Given the description of an element on the screen output the (x, y) to click on. 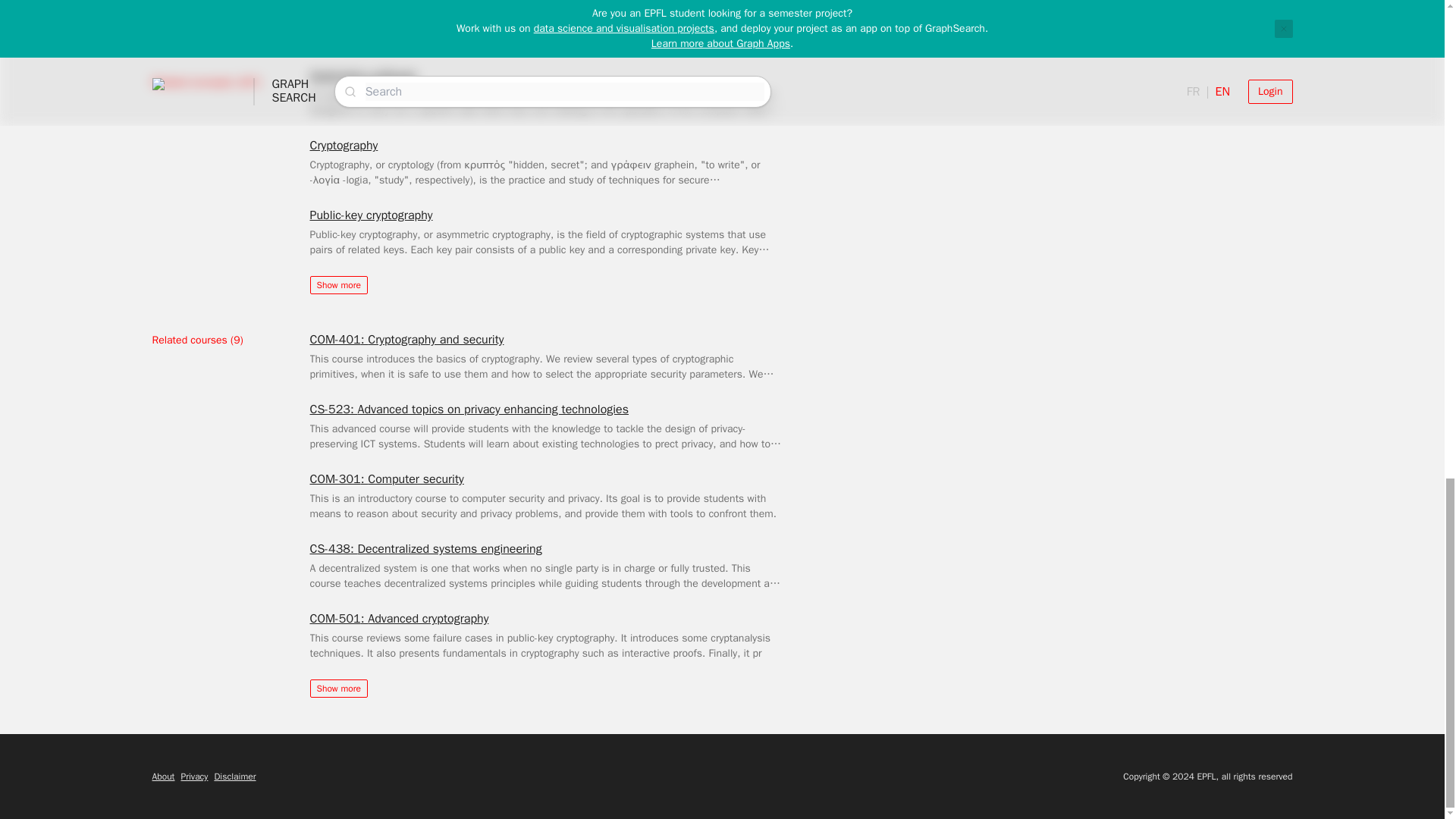
Application software (362, 75)
COM-401: Cryptography and security (405, 339)
Communications security (375, 7)
Public-key cryptography (370, 215)
CS-523: Advanced topics on privacy enhancing technologies (468, 409)
Show more (337, 285)
COM-301: Computer security (385, 479)
Cryptography (342, 145)
